Given the description of an element on the screen output the (x, y) to click on. 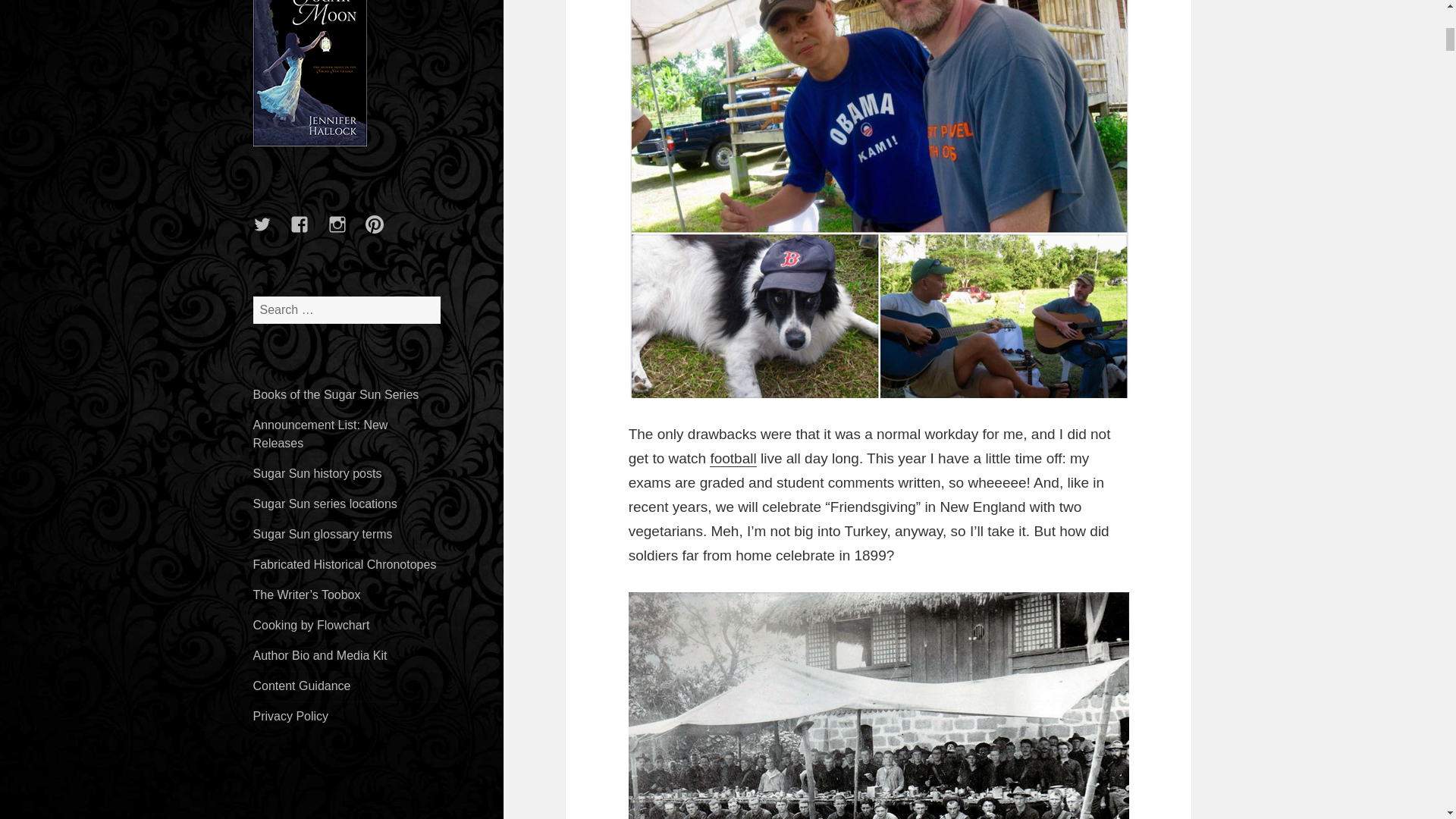
Sugar Sun history posts (317, 472)
Sugar Sun series locations (325, 503)
Books of the Sugar Sun Series (336, 394)
Sugar Sun glossary terms (323, 533)
Author Bio and Media Kit (320, 655)
Privacy Policy (291, 716)
Announcement List: New Releases (320, 433)
football (732, 458)
Fabricated Historical Chronotopes (344, 563)
Content Guidance (301, 685)
Cooking by Flowchart (311, 625)
